Given the description of an element on the screen output the (x, y) to click on. 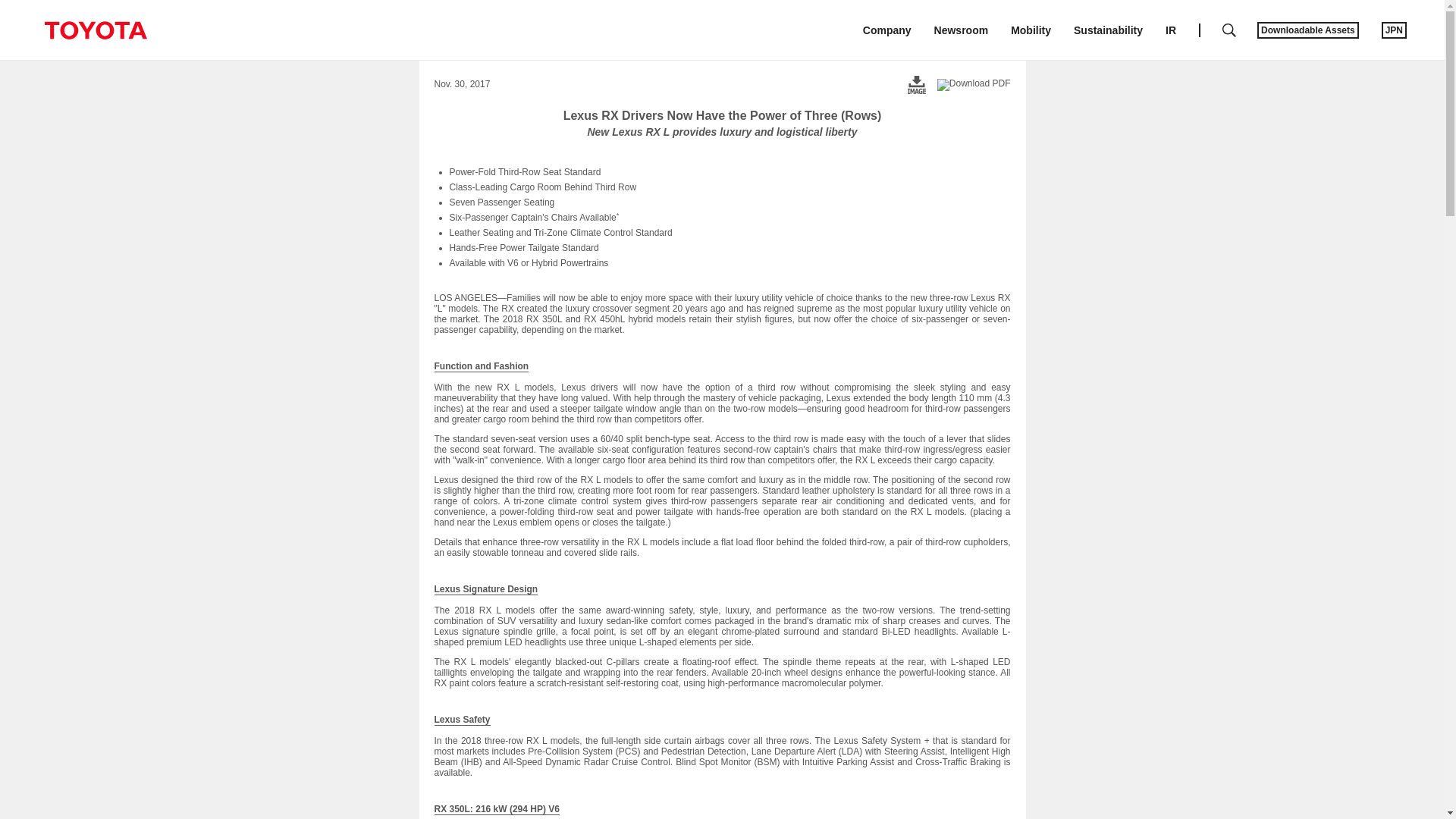
TOYOTA (95, 30)
Newsroom (961, 30)
Mobility (1030, 30)
Company (887, 30)
